Given the description of an element on the screen output the (x, y) to click on. 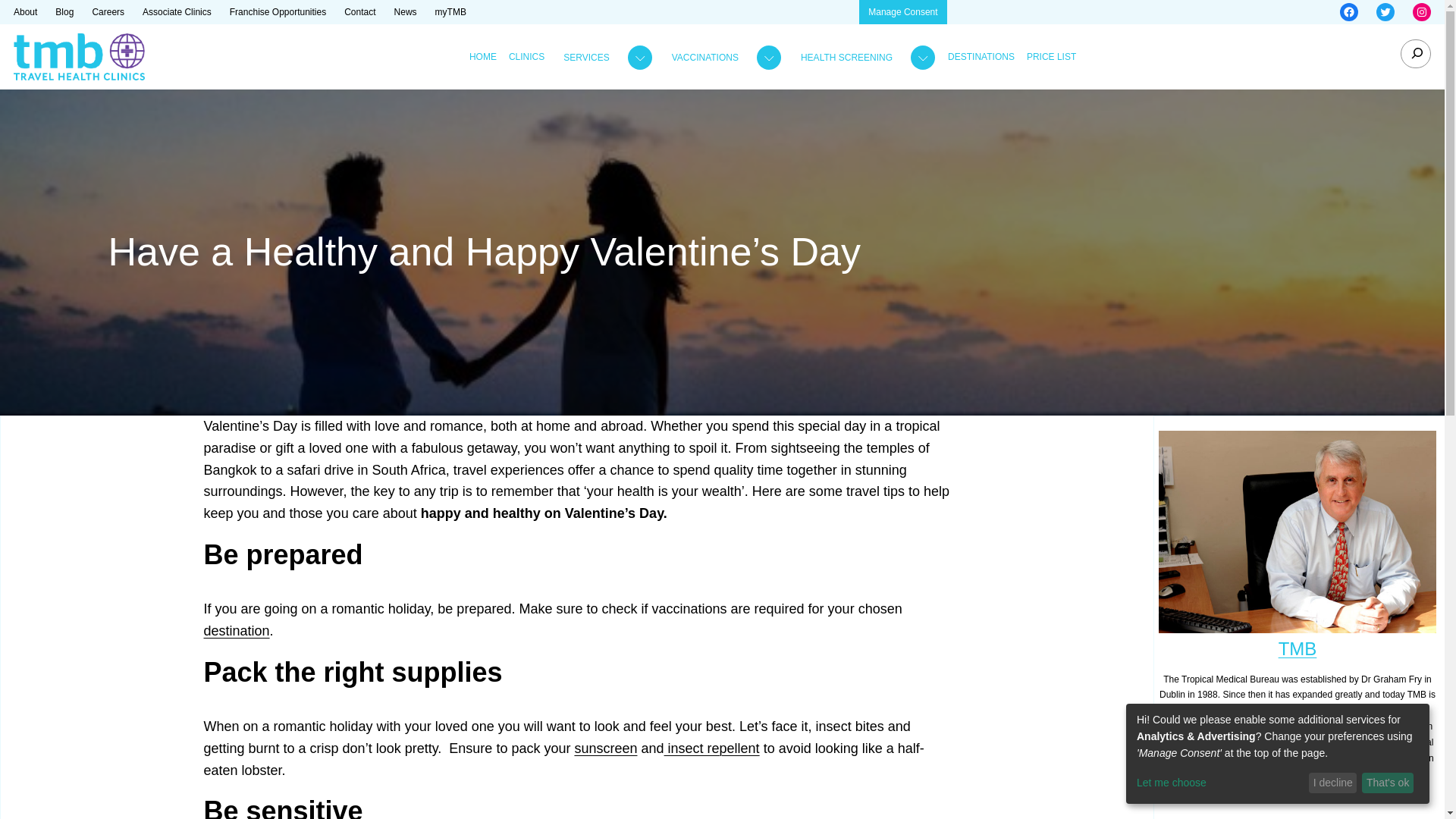
Contact (359, 12)
Submenu Toggle (864, 57)
Submenu Toggle (723, 57)
View all posts by TMB (1297, 648)
News (405, 12)
Associate Clinics (176, 12)
About (25, 12)
myTMB (450, 12)
Manage Consent (902, 12)
HEALTH SCREENING (846, 57)
Instagram (1421, 12)
Twitter (1384, 12)
Franchise Opportunities (278, 12)
VACCINATIONS (704, 57)
Careers (107, 12)
